Given the description of an element on the screen output the (x, y) to click on. 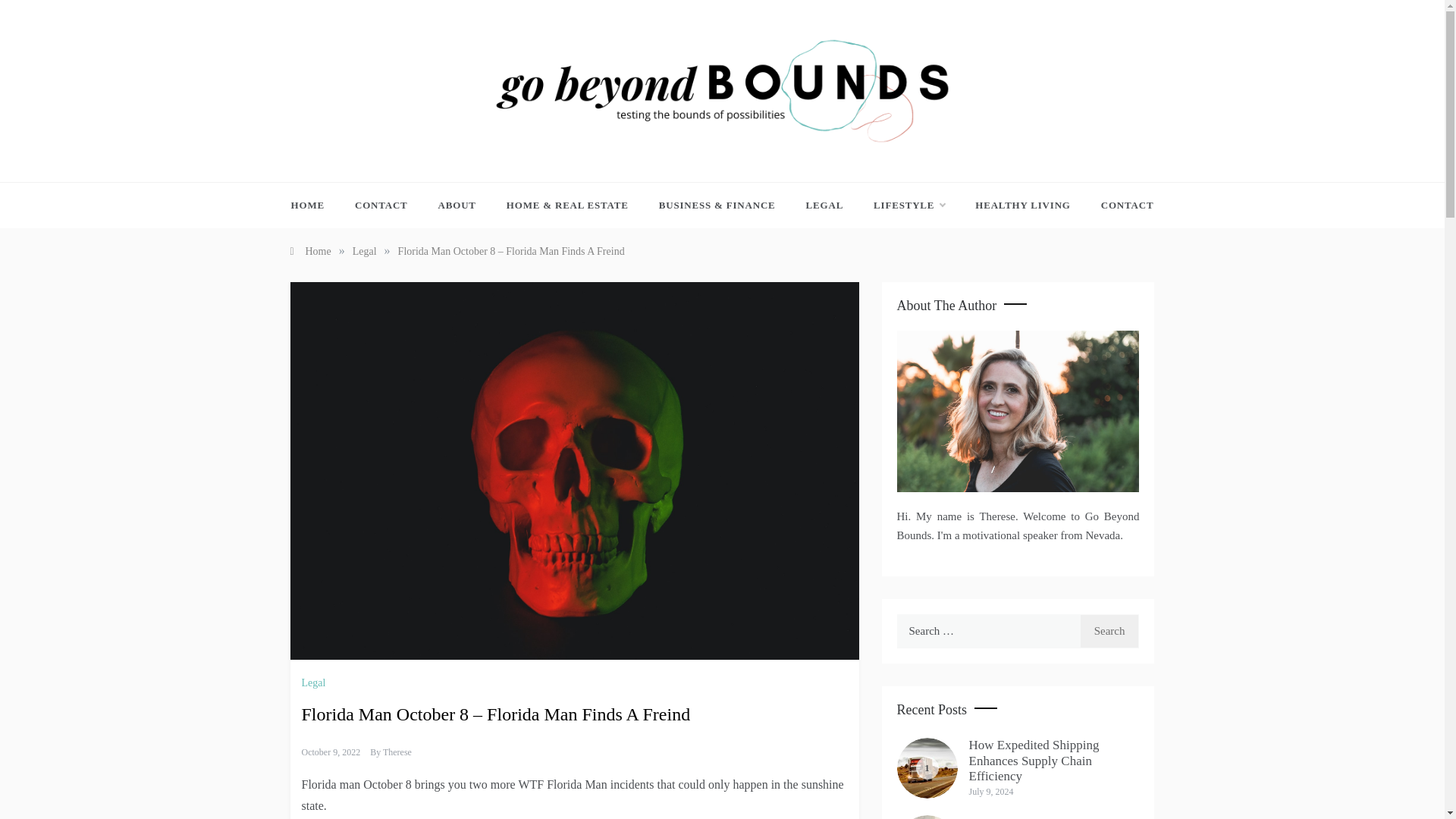
HEALTHY LIVING (1021, 205)
Search (1110, 631)
CONTACT (1120, 205)
CONTACT (381, 205)
Home (309, 251)
HOME (315, 205)
October 9, 2022 (331, 751)
LEGAL (824, 205)
Therese (397, 751)
How Expedited Shipping Enhances Supply Chain Efficiency (1034, 759)
GO BEYOND BOUNDS (618, 157)
ABOUT (457, 205)
Search (1110, 631)
Legal (315, 682)
LIFESTYLE (909, 205)
